Given the description of an element on the screen output the (x, y) to click on. 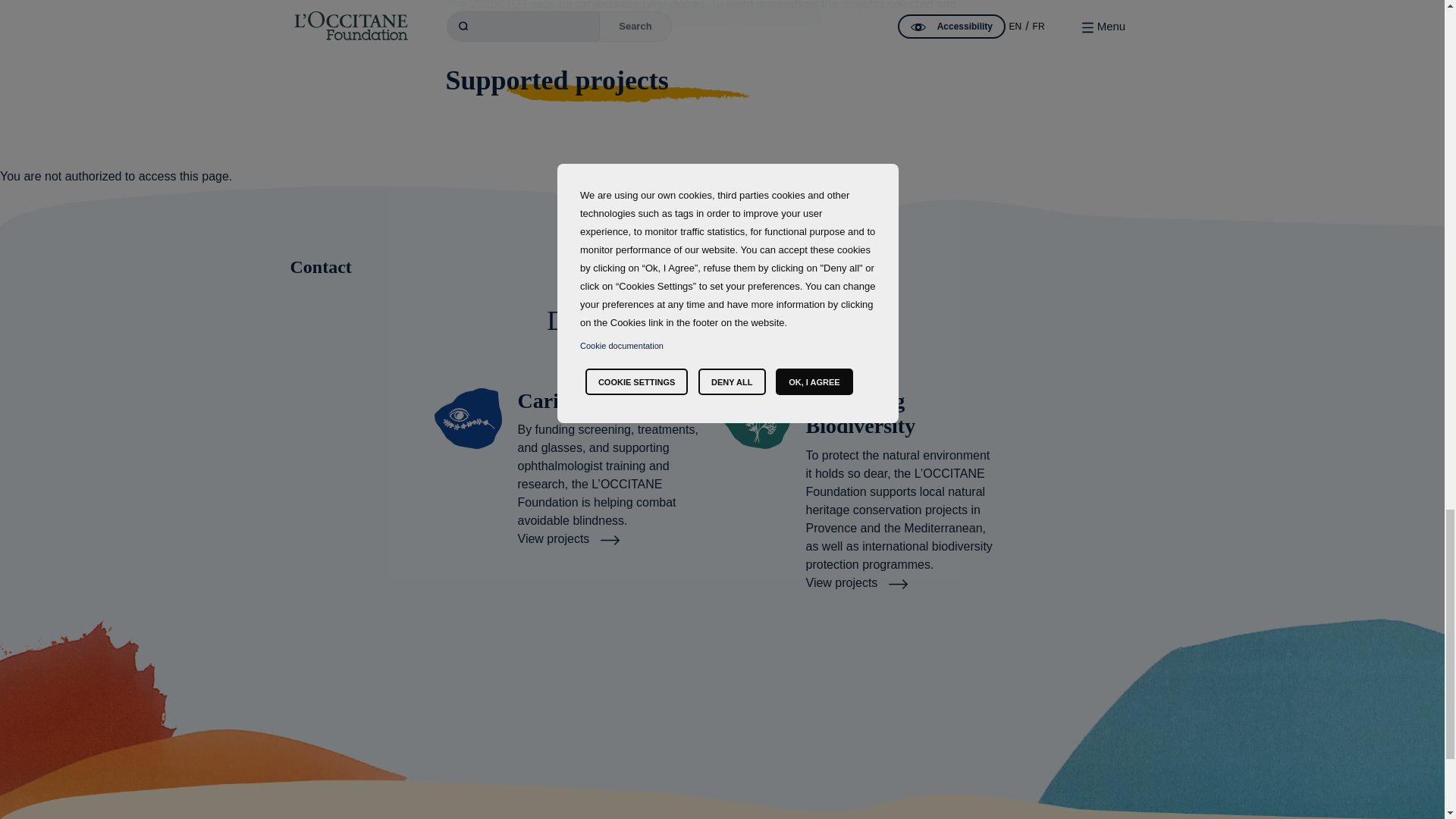
Contact (721, 266)
View projects (568, 538)
View Caring for Sight projects (568, 538)
View Respecting Biodiversity projects (856, 582)
View projects (856, 582)
